Given the description of an element on the screen output the (x, y) to click on. 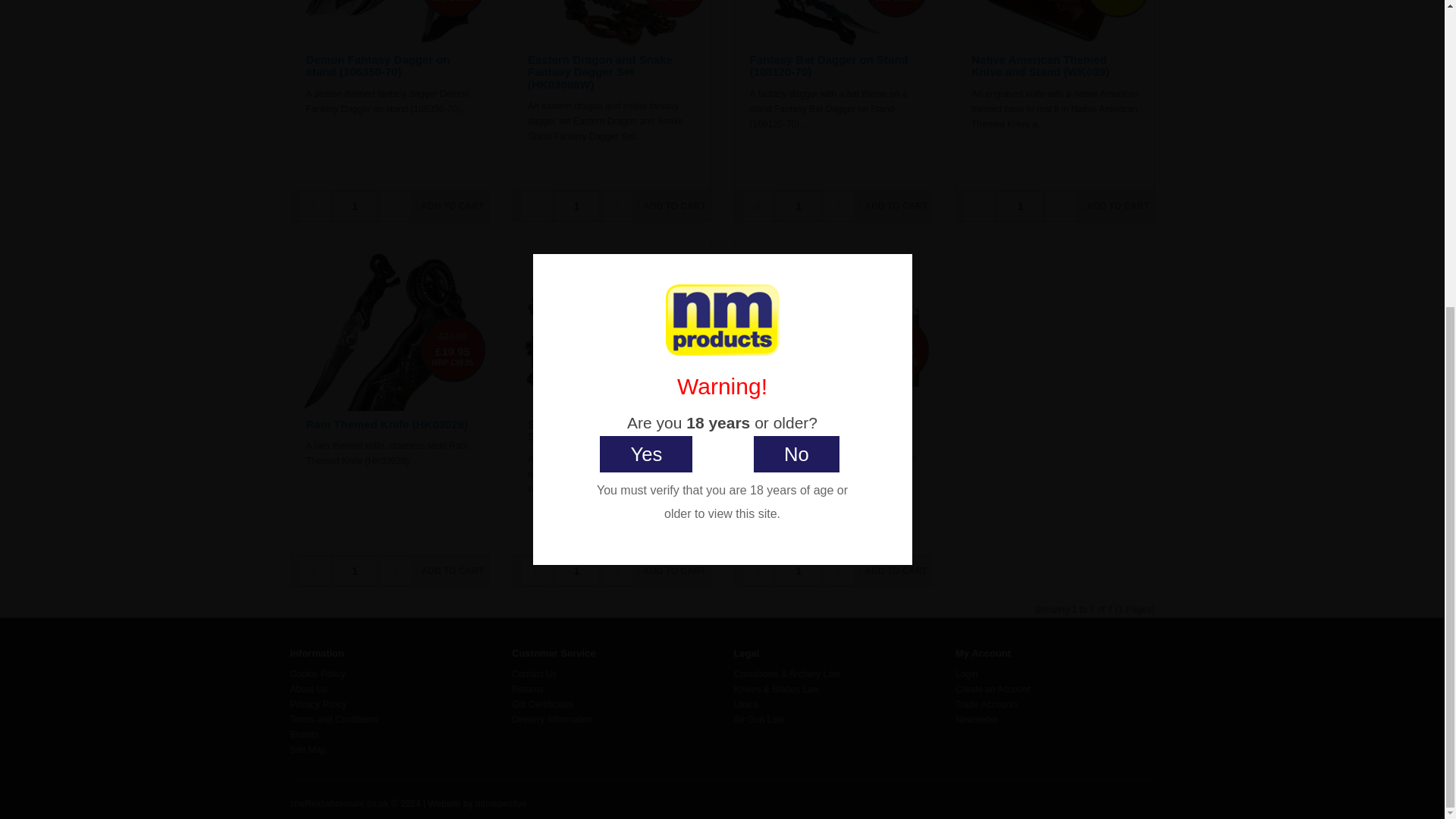
1 (798, 205)
ADD TO CART (670, 205)
1 (354, 205)
ADD TO CART (448, 205)
ADD TO CART (1114, 205)
1 (576, 205)
ADD TO CART (892, 205)
1 (798, 571)
1 (1020, 205)
1 (576, 571)
1 (354, 571)
